Given the description of an element on the screen output the (x, y) to click on. 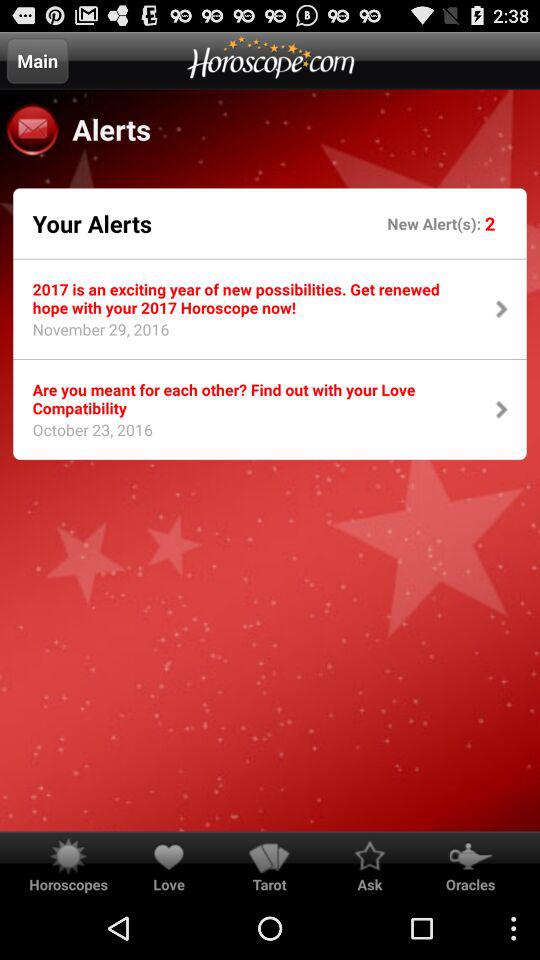
swipe to the november 29, 2016 (94, 335)
